Given the description of an element on the screen output the (x, y) to click on. 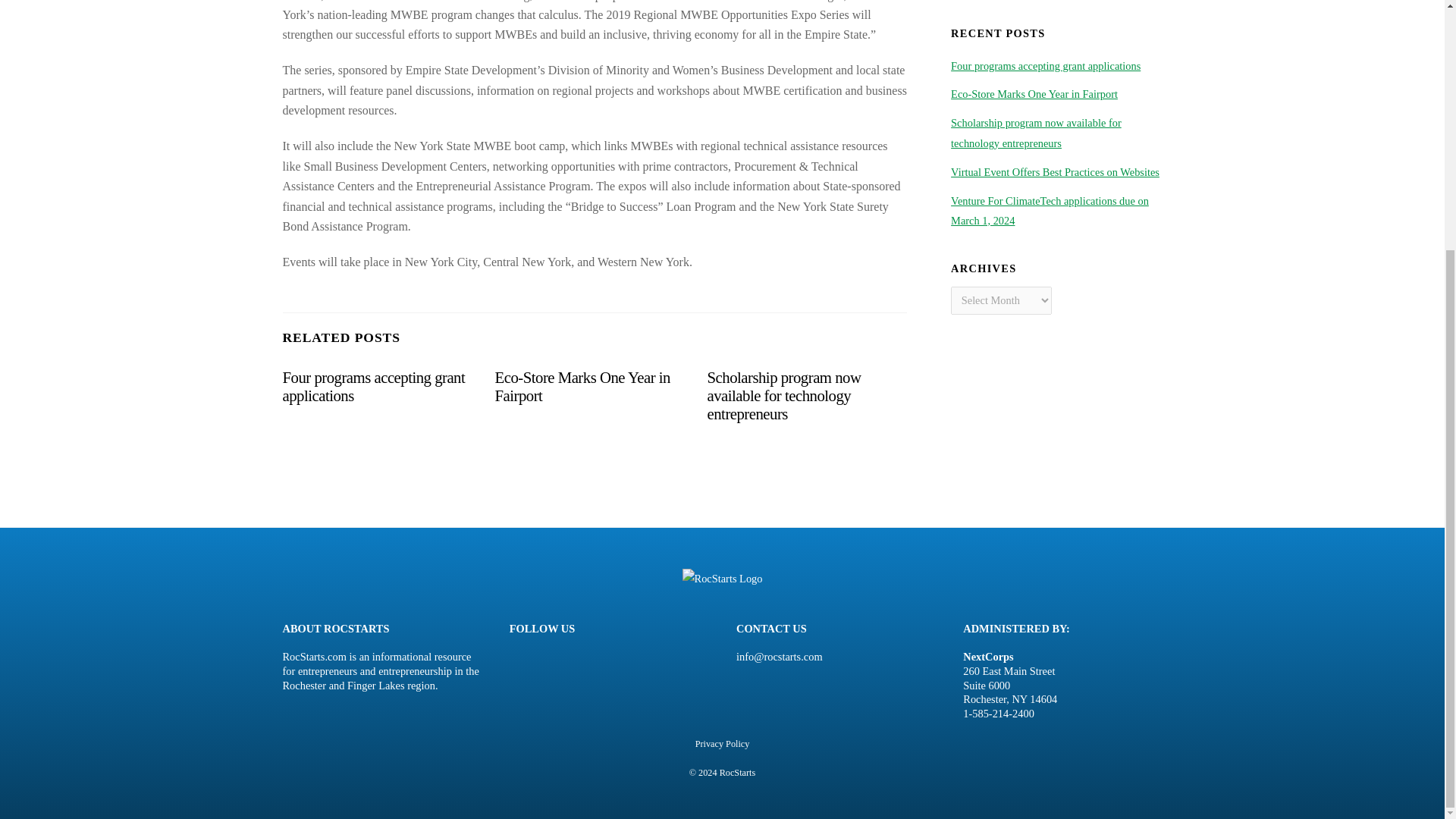
Four programs accepting grant applications (373, 386)
Eco-Store Marks One Year in Fairport (582, 386)
Eco-Store Marks One Year in Fairport (582, 386)
Four programs accepting grant applications (373, 386)
